Given the description of an element on the screen output the (x, y) to click on. 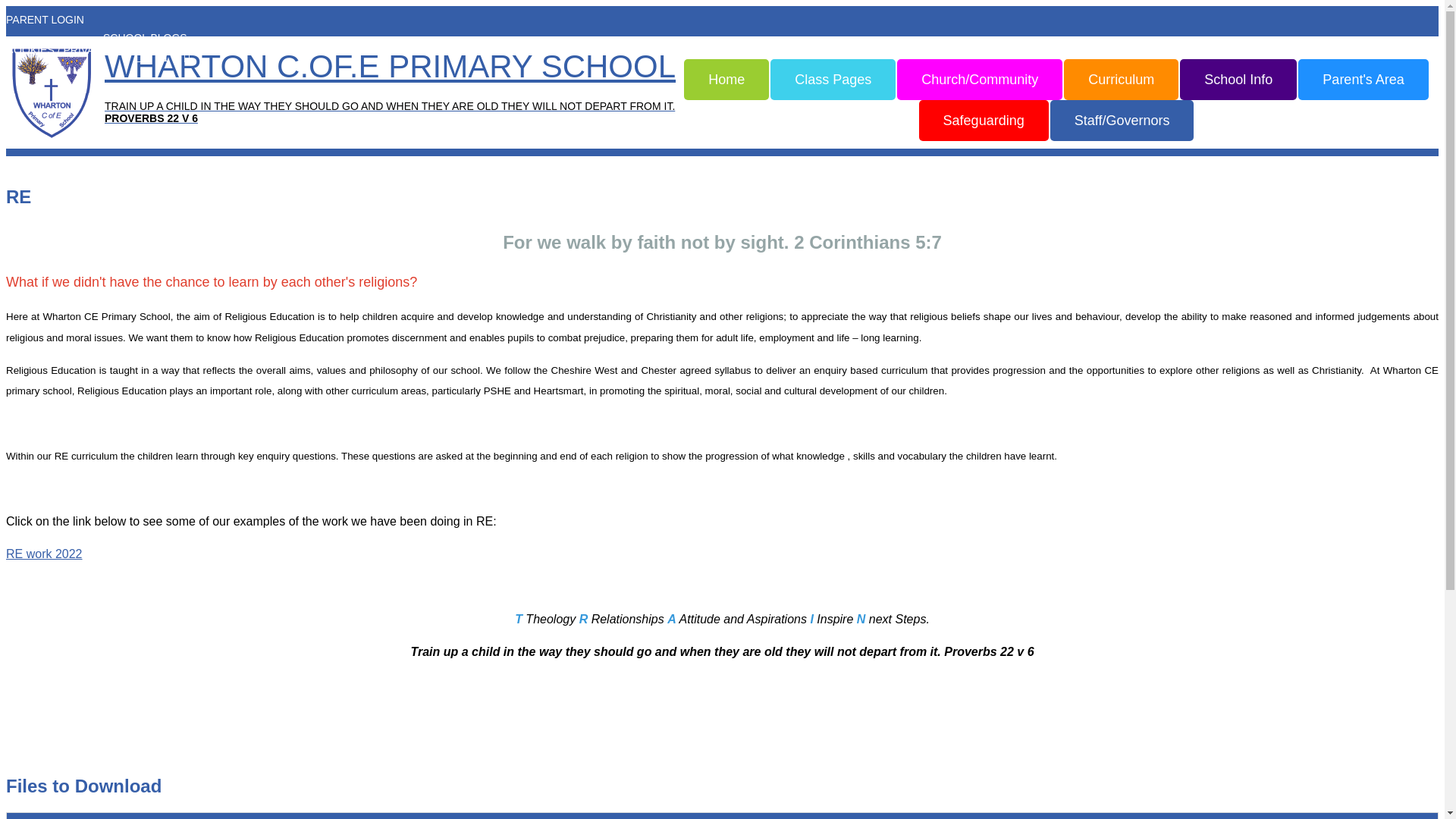
PARENT LOGIN (48, 28)
Class Pages (832, 78)
Examples of RE work (43, 553)
SCHOOL BLOGS (149, 37)
Curriculum (1120, 78)
Home (726, 78)
